Given the description of an element on the screen output the (x, y) to click on. 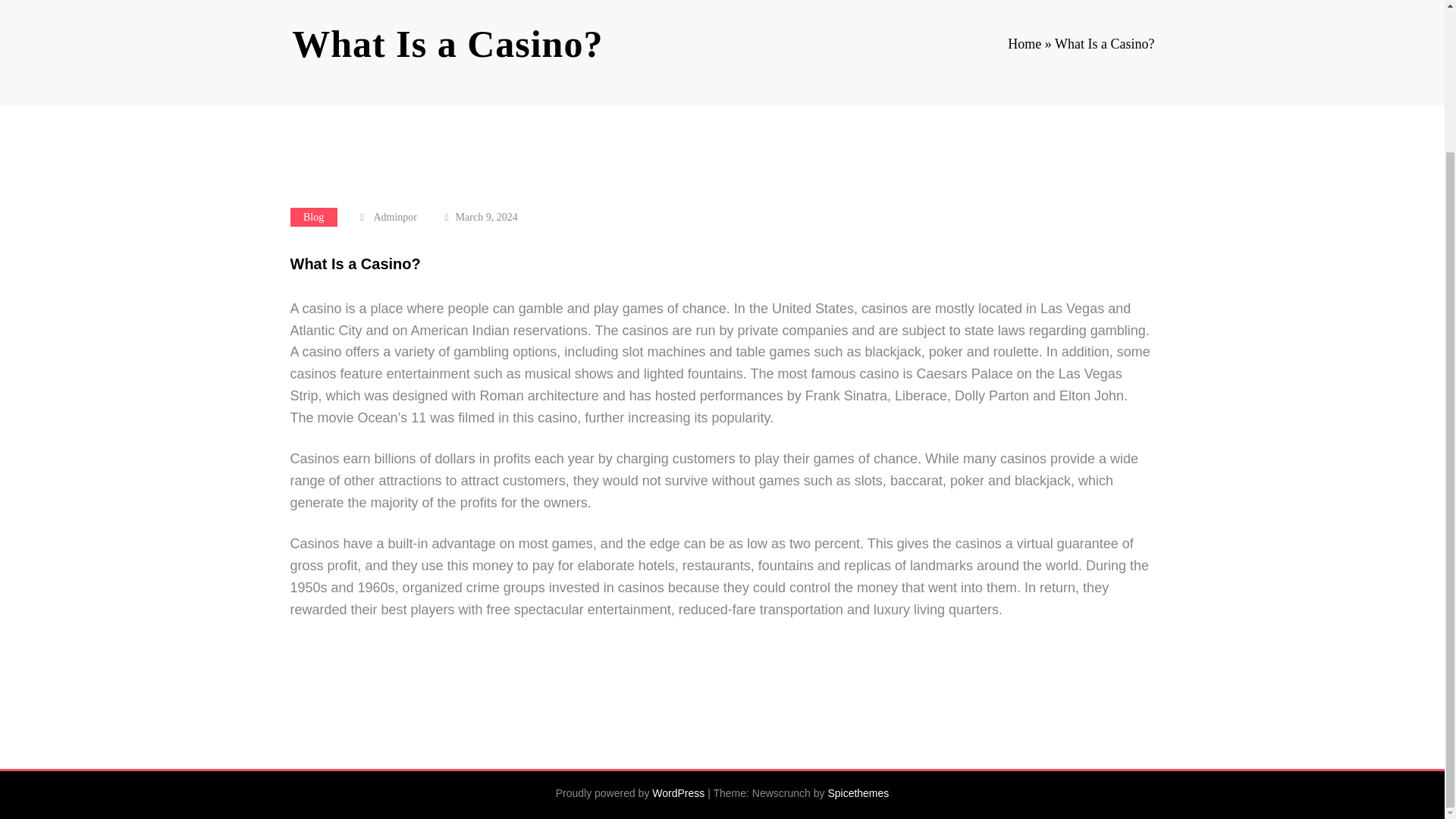
March 9, 2024 (486, 216)
Spicethemes (857, 793)
Blog (312, 217)
WordPress (678, 793)
Adminpor (394, 216)
Home (1024, 43)
